Given the description of an element on the screen output the (x, y) to click on. 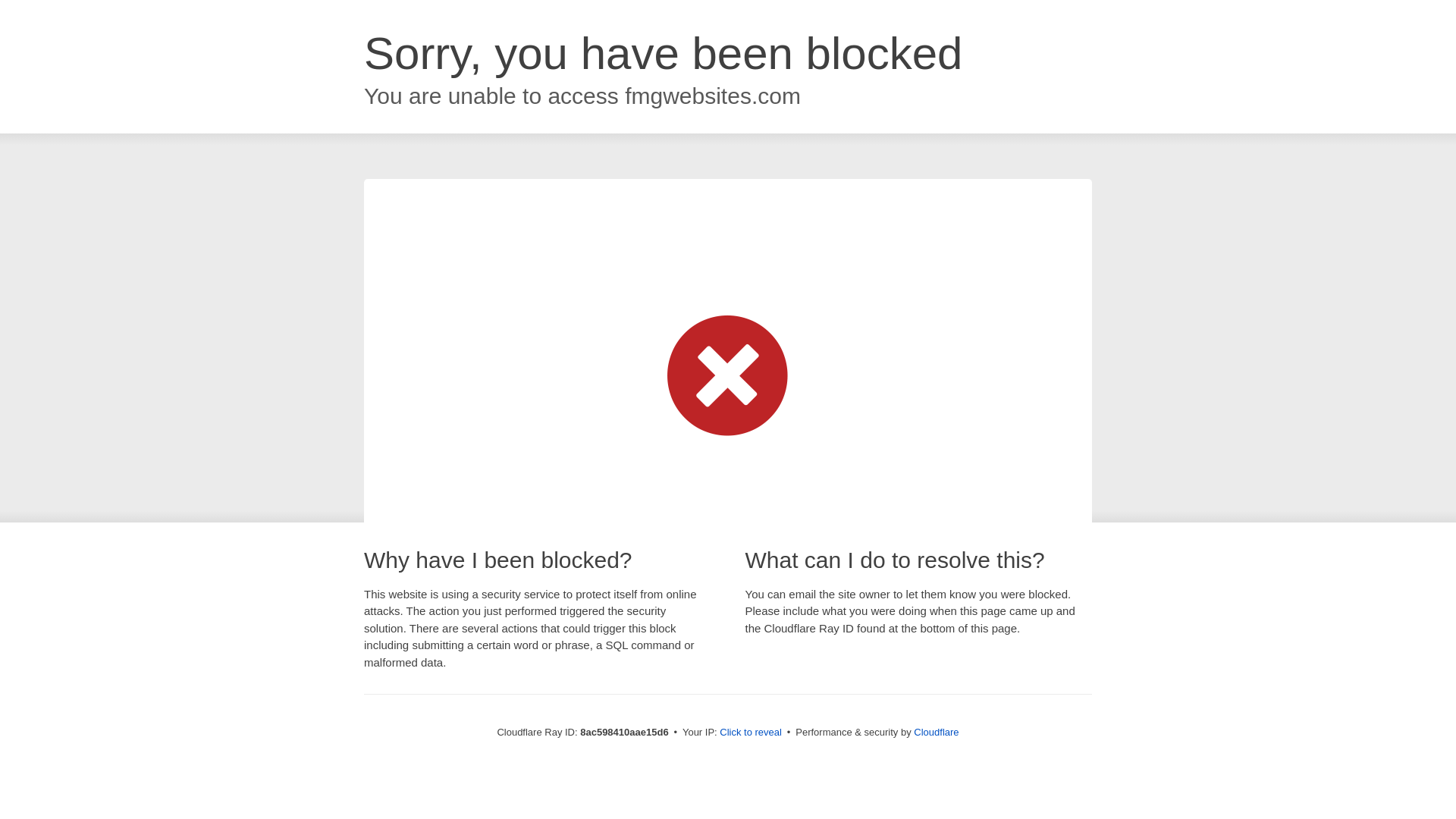
Click to reveal (750, 732)
Cloudflare (936, 731)
